Given the description of an element on the screen output the (x, y) to click on. 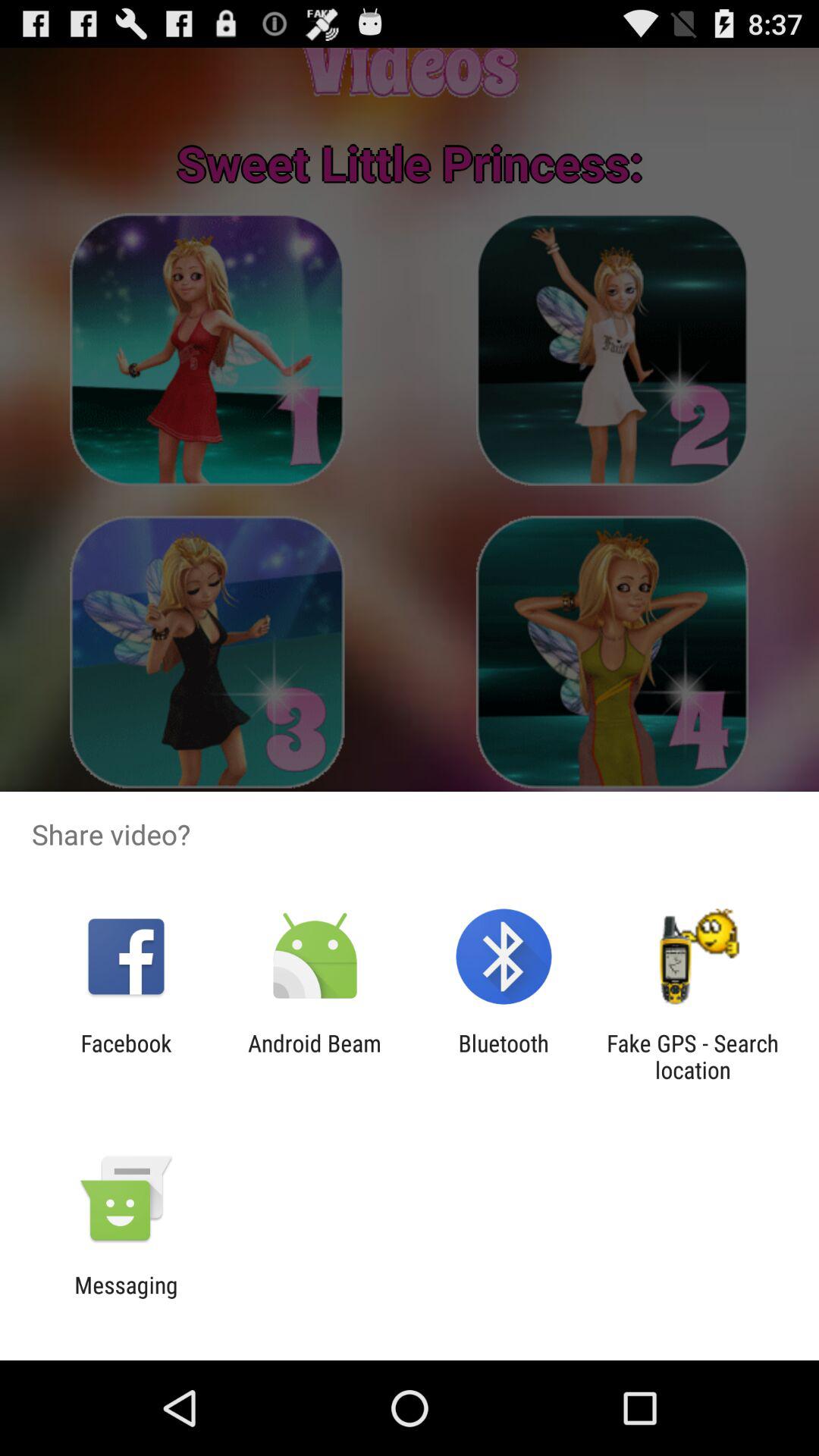
open the app to the right of the android beam item (503, 1056)
